Given the description of an element on the screen output the (x, y) to click on. 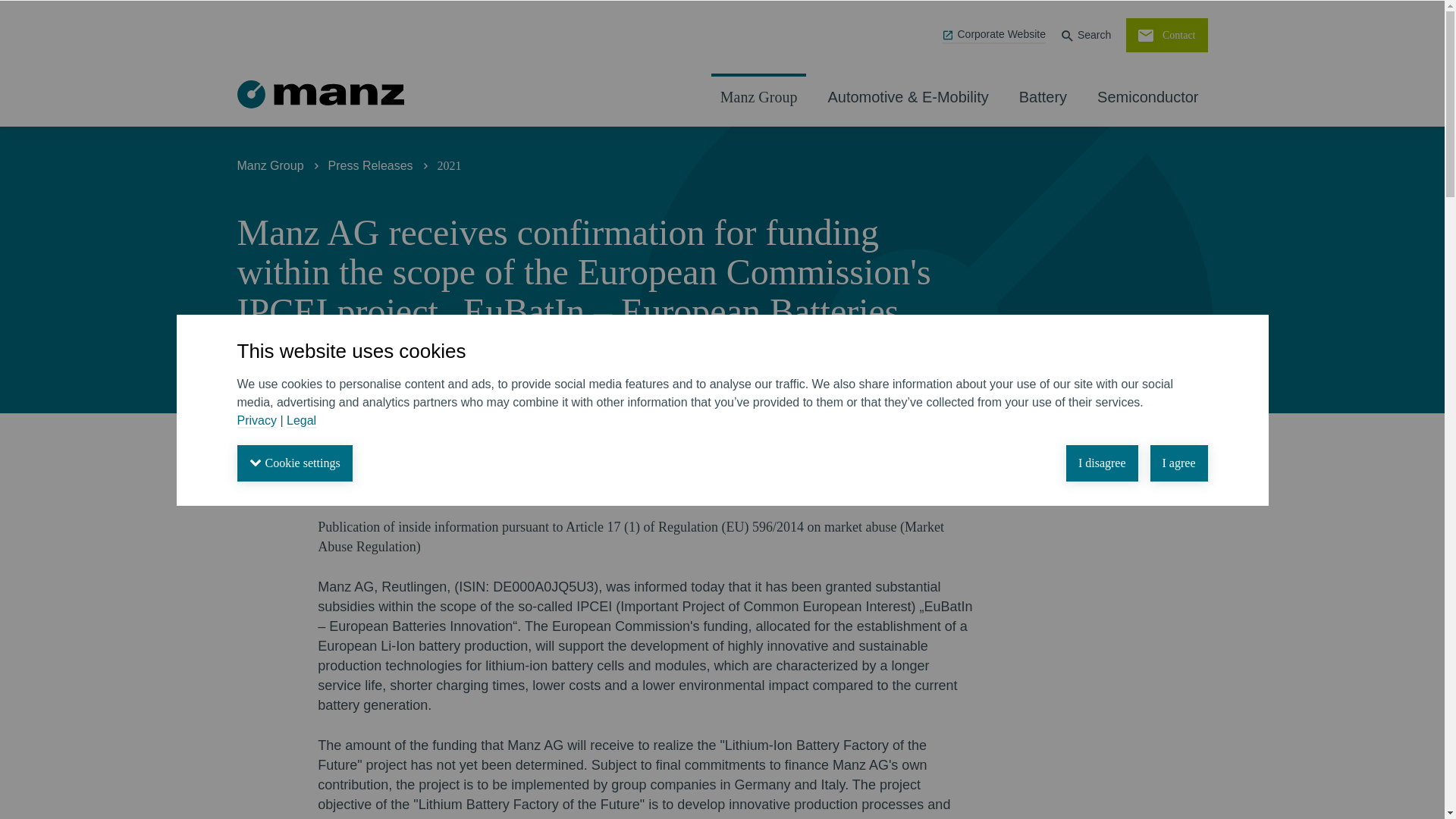
Privacy (255, 421)
Legal (300, 421)
Cookie settings (293, 462)
Manz Group (758, 96)
I disagree (1101, 462)
Contact (1166, 35)
I agree (1179, 462)
Corporate Website (993, 35)
